Given the description of an element on the screen output the (x, y) to click on. 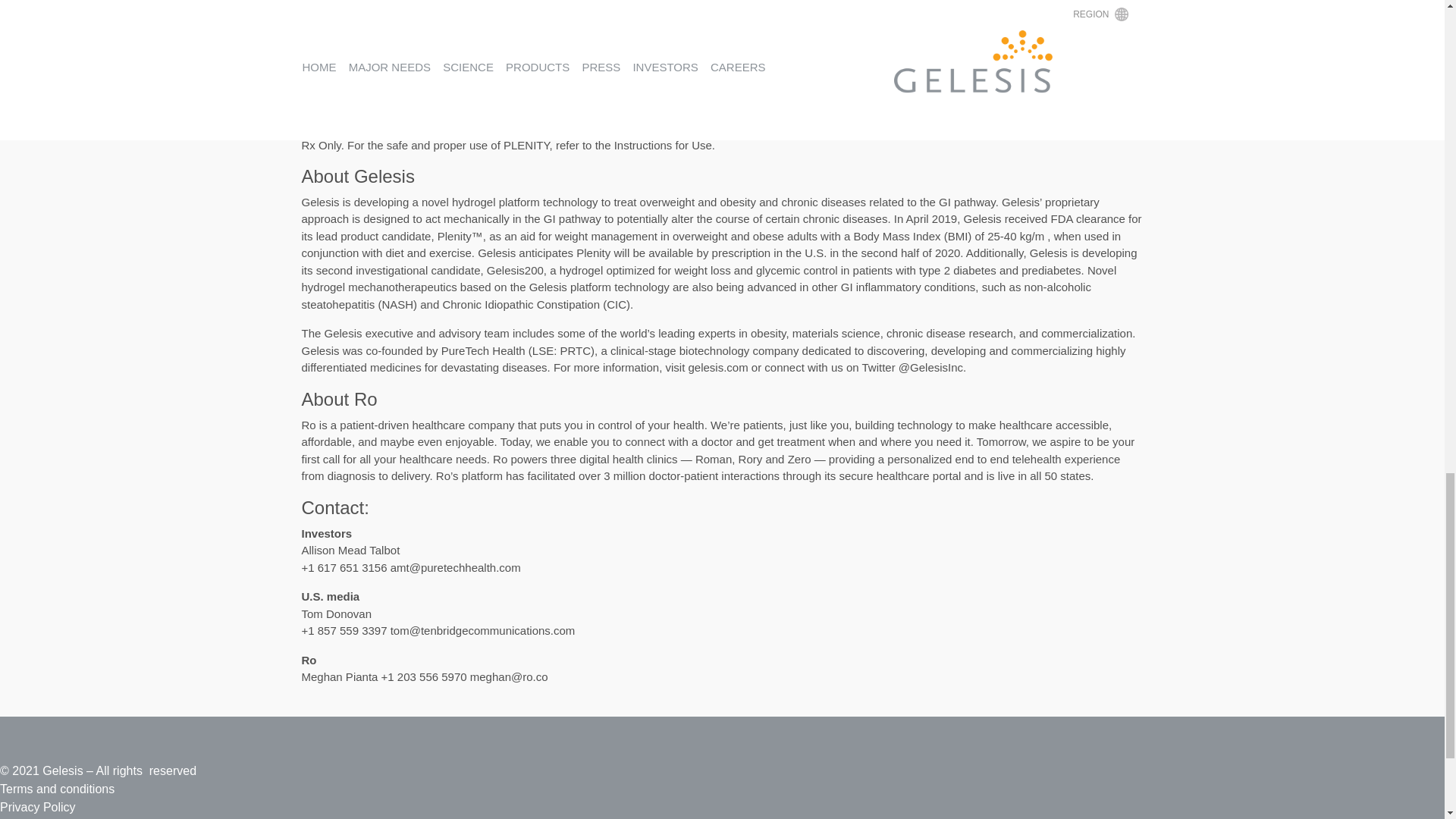
Privacy Policy (37, 807)
Terms and conditions (57, 788)
